Given the description of an element on the screen output the (x, y) to click on. 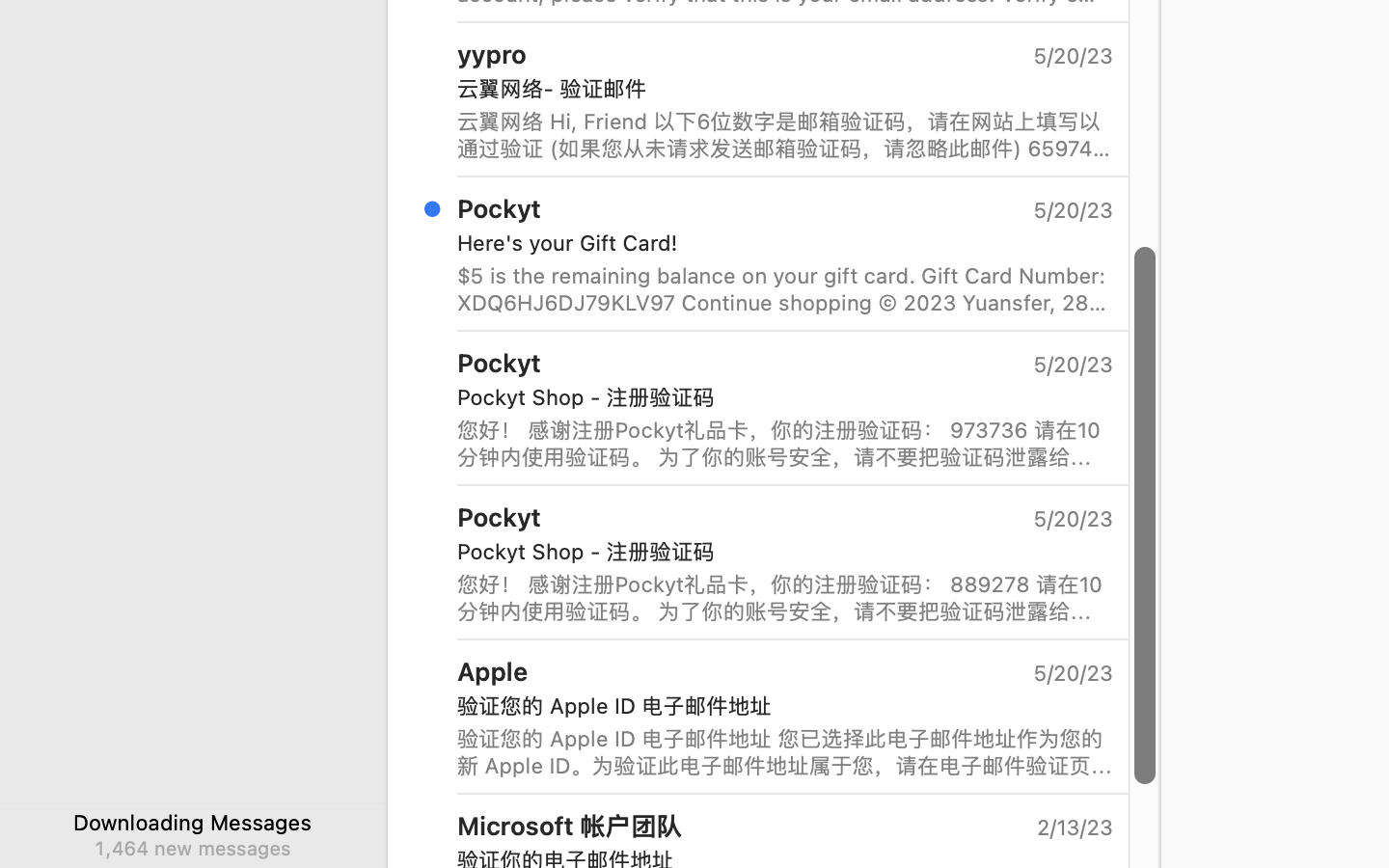
1,464 new messages Element type: AXStaticText (191, 847)
$5 is the remaining balance on your gift card. Gift Card Number: XDQ6HJ6DJ79KLV97 Continue shopping © 2023 Yuansfer, 28 Liberty St 6th Floor, New York, NY United States 10005 Element type: AXStaticText (784, 289)
Pockyt Element type: AXStaticText (499, 516)
云翼网络 Hi, Friend 以下6位数字是邮箱验证码，请在网站上填写以通过验证 (如果您从未请求发送邮箱验证码，请忽略此邮件) 659746 2020 © 云翼网络. All Rights Reserved. 访问官网 | 用户中心 Element type: AXStaticText (784, 135)
